Given the description of an element on the screen output the (x, y) to click on. 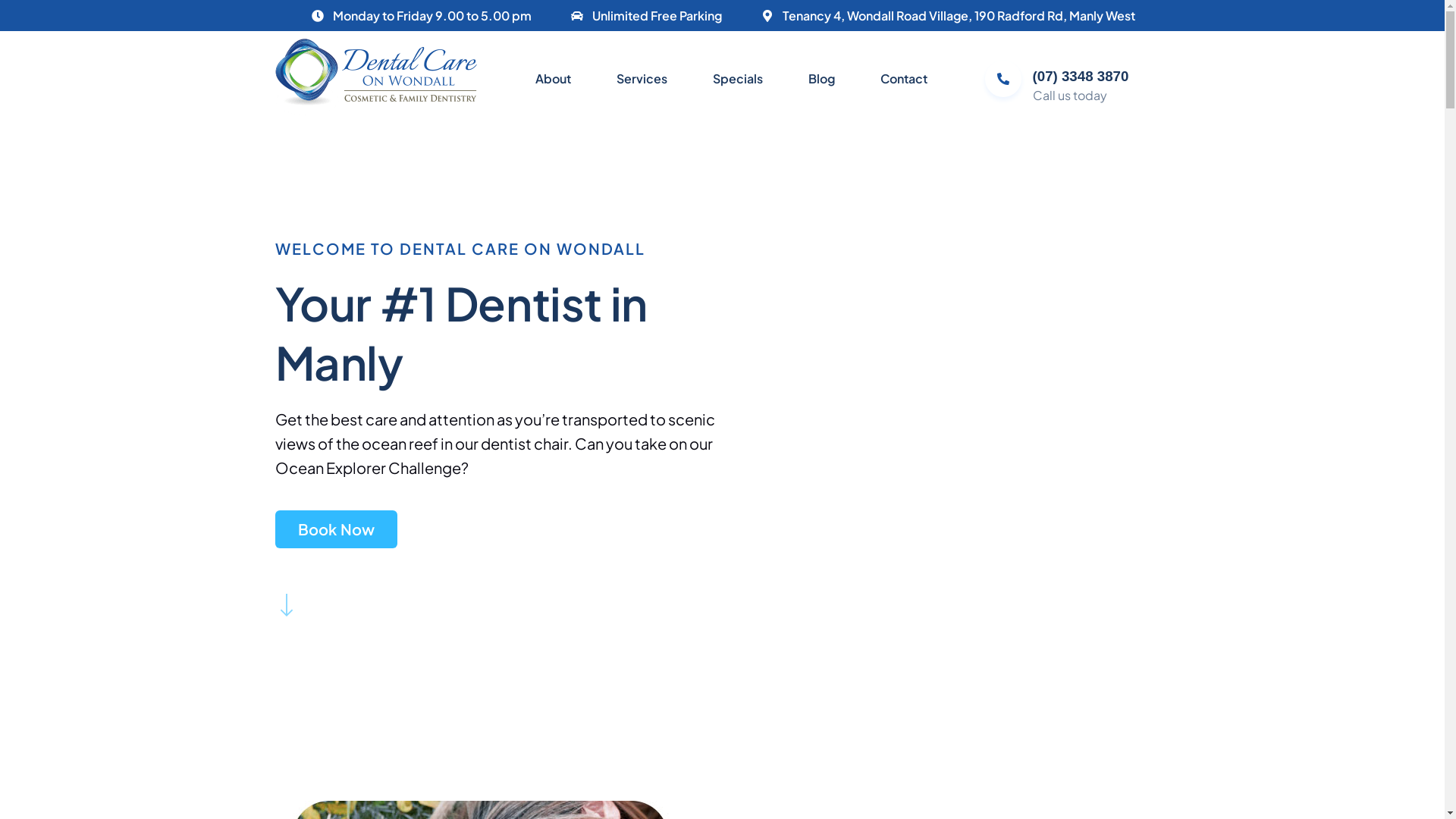
Contact Element type: text (903, 77)
Blog Element type: text (821, 77)
Book Now Element type: text (335, 529)
Services Element type: text (641, 77)
Specials Element type: text (737, 77)
About Element type: text (552, 77)
